Given the description of an element on the screen output the (x, y) to click on. 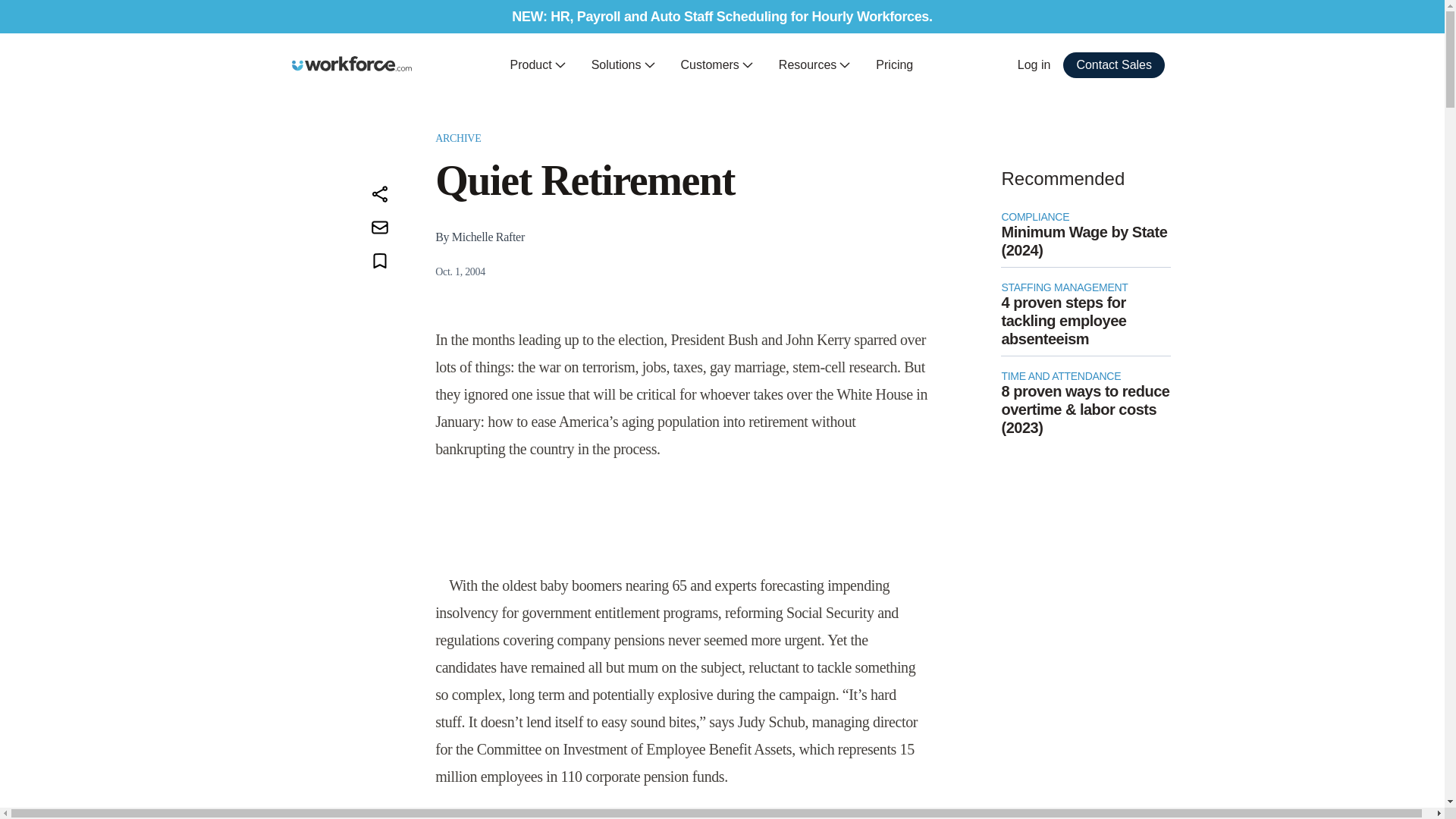
Solutions (623, 65)
Product (539, 65)
Workforce.com (351, 63)
